Given the description of an element on the screen output the (x, y) to click on. 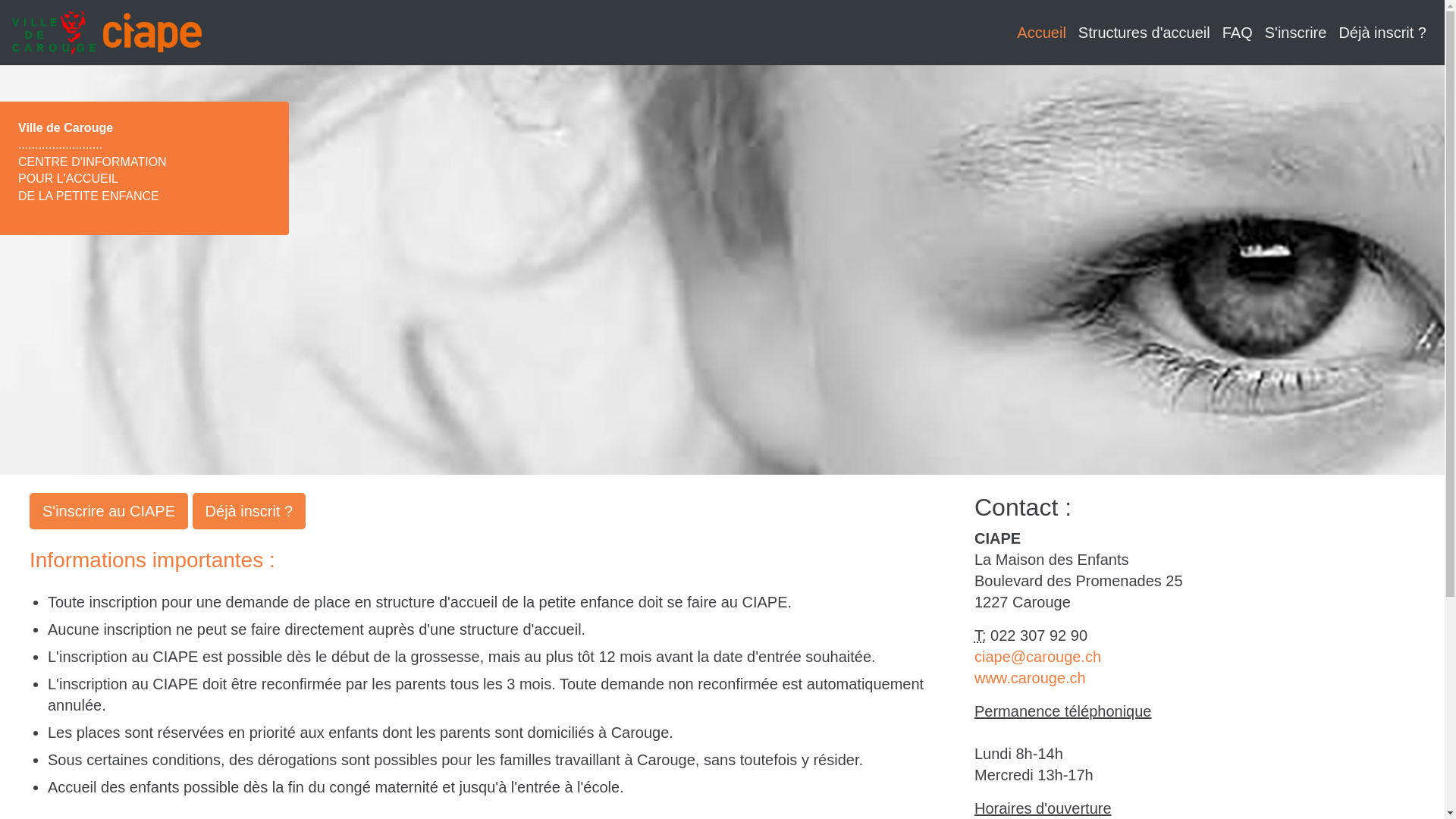
S'inscrire au CIAPE Element type: text (108, 510)
Structures d'accueil Element type: text (1144, 32)
S'inscrire Element type: text (1295, 32)
ciape@carouge.ch Element type: text (1037, 656)
www.carouge.ch Element type: text (1029, 677)
FAQ Element type: text (1237, 32)
Accueil
(current) Element type: text (1040, 32)
